Given the description of an element on the screen output the (x, y) to click on. 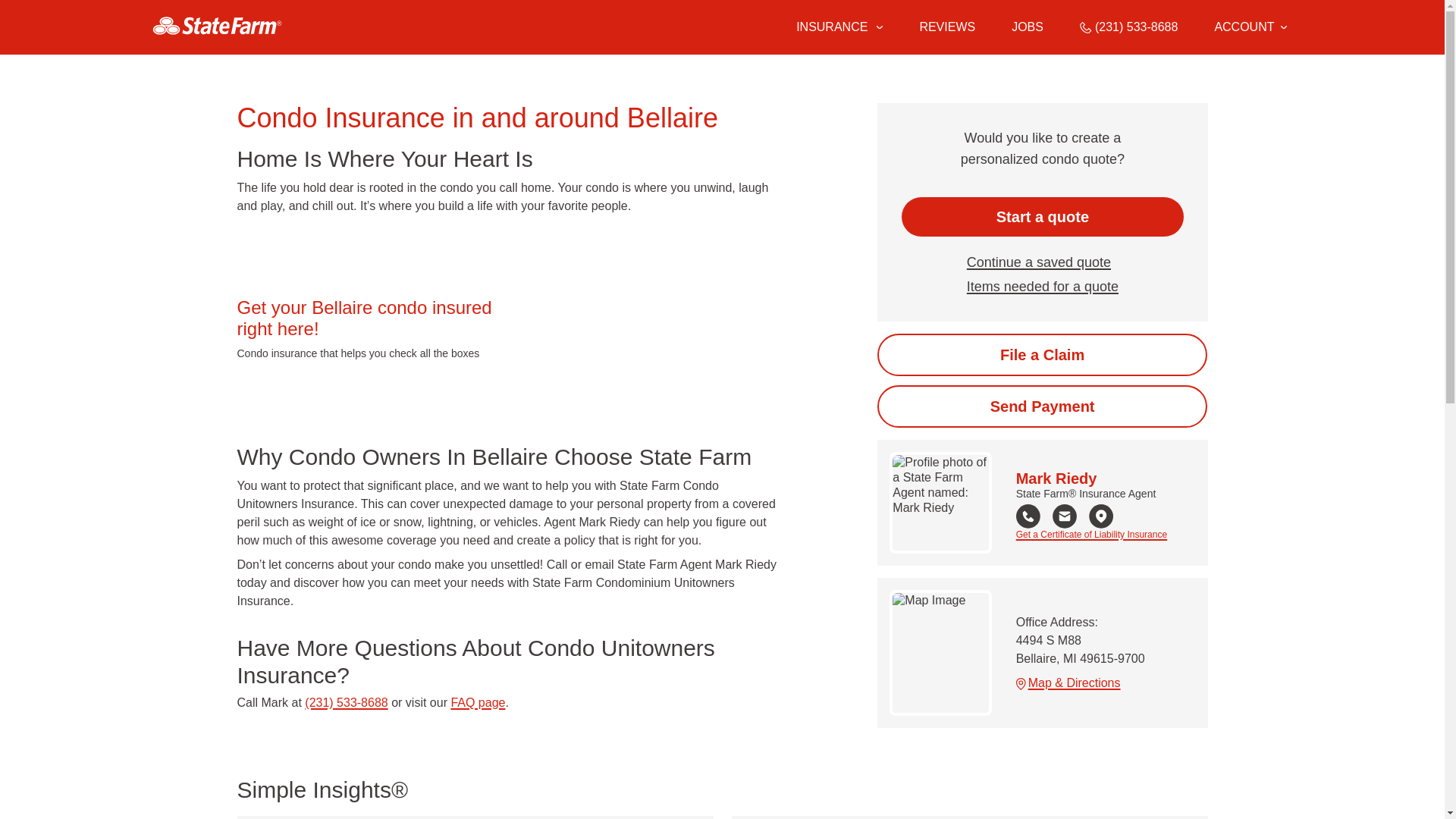
Start the claim process online (1042, 354)
Account Options (1250, 27)
ACCOUNT (1250, 27)
REVIEWS (946, 27)
Insurance (839, 27)
JOBS (1027, 27)
INSURANCE (830, 27)
FAQ page (477, 702)
